Given the description of an element on the screen output the (x, y) to click on. 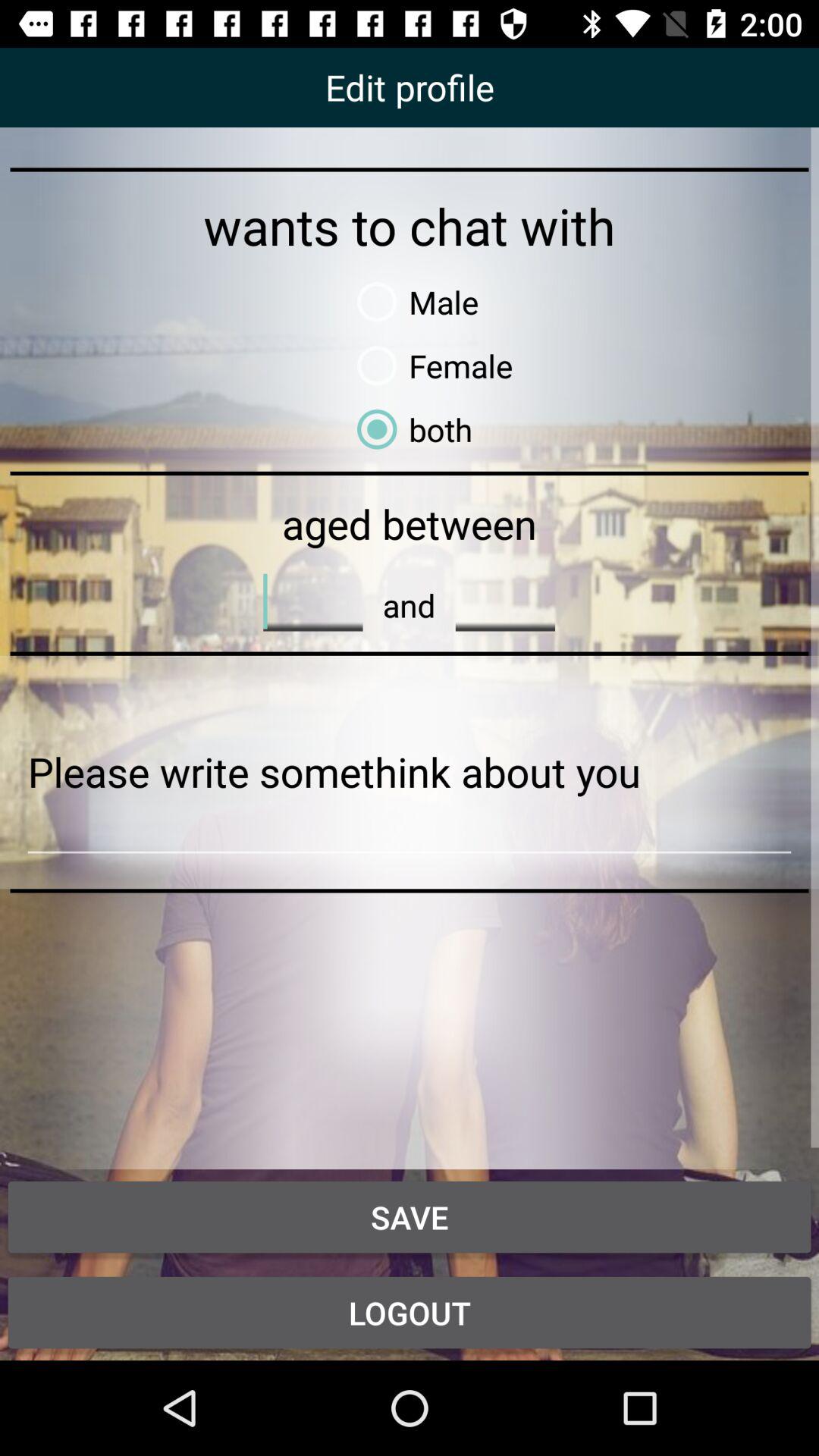
word type line (505, 601)
